Given the description of an element on the screen output the (x, y) to click on. 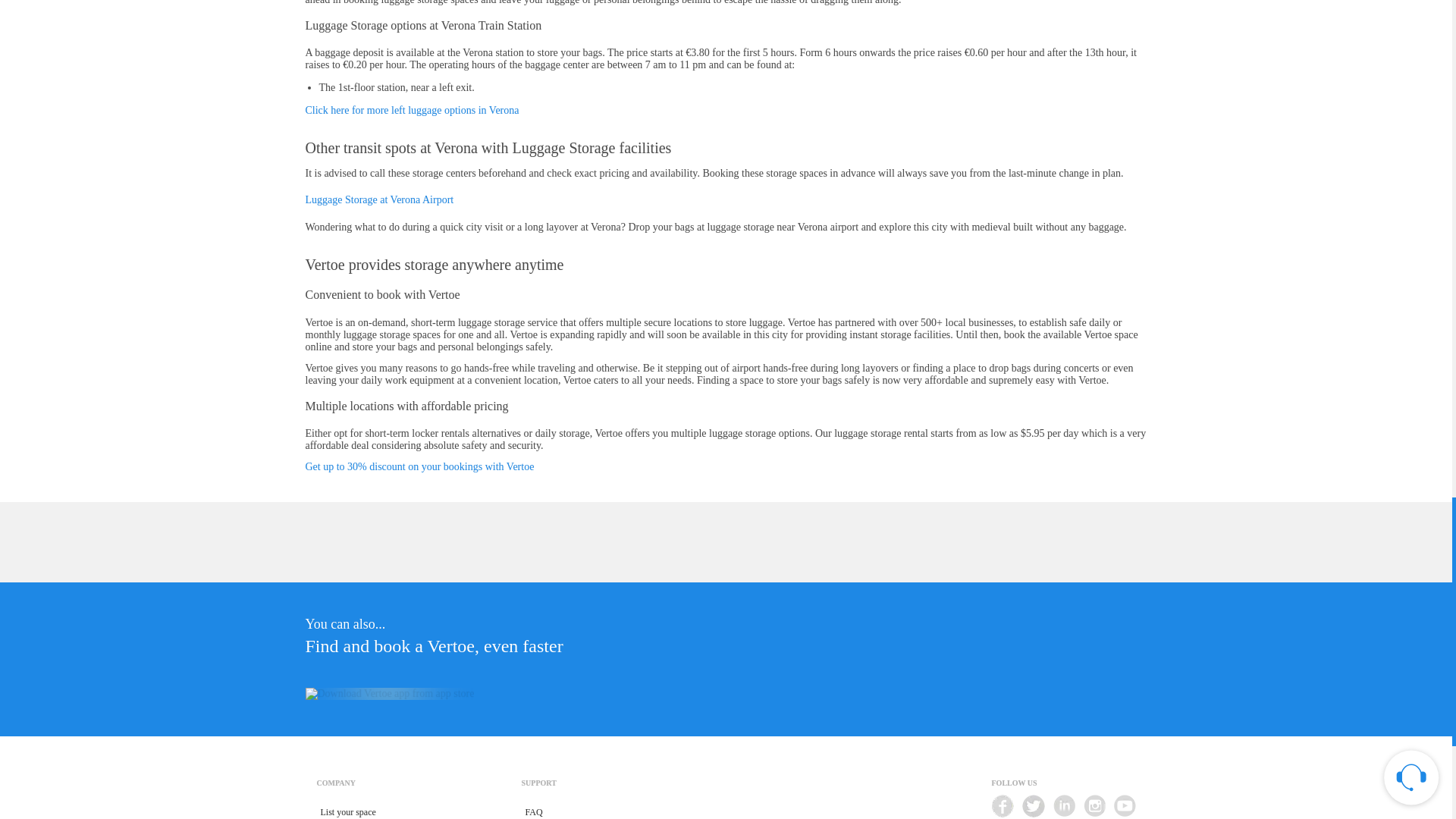
Click here for more left luggage options in Verona (411, 110)
Luggage Storage at Verona Airport (378, 199)
List your space (348, 808)
FAQ (534, 808)
